Given the description of an element on the screen output the (x, y) to click on. 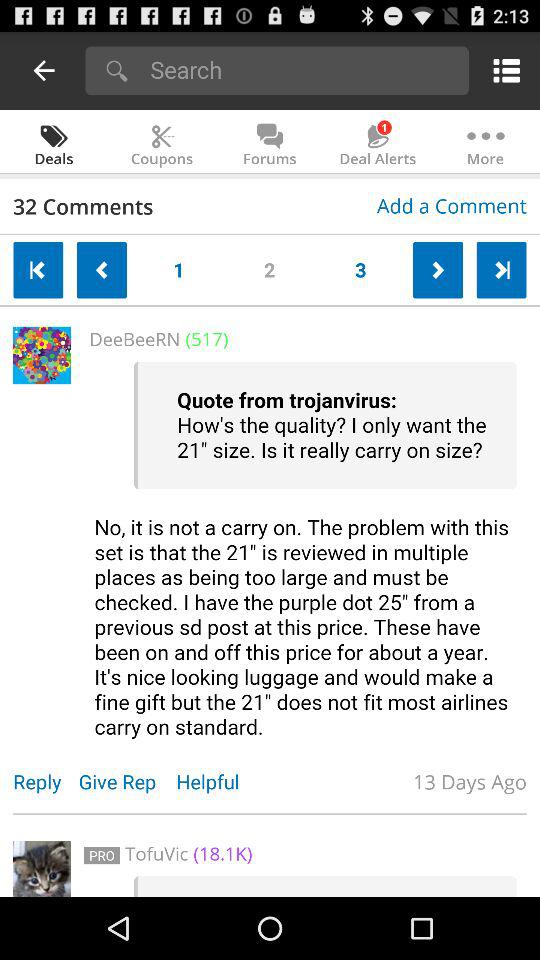
copy the article (305, 550)
